Given the description of an element on the screen output the (x, y) to click on. 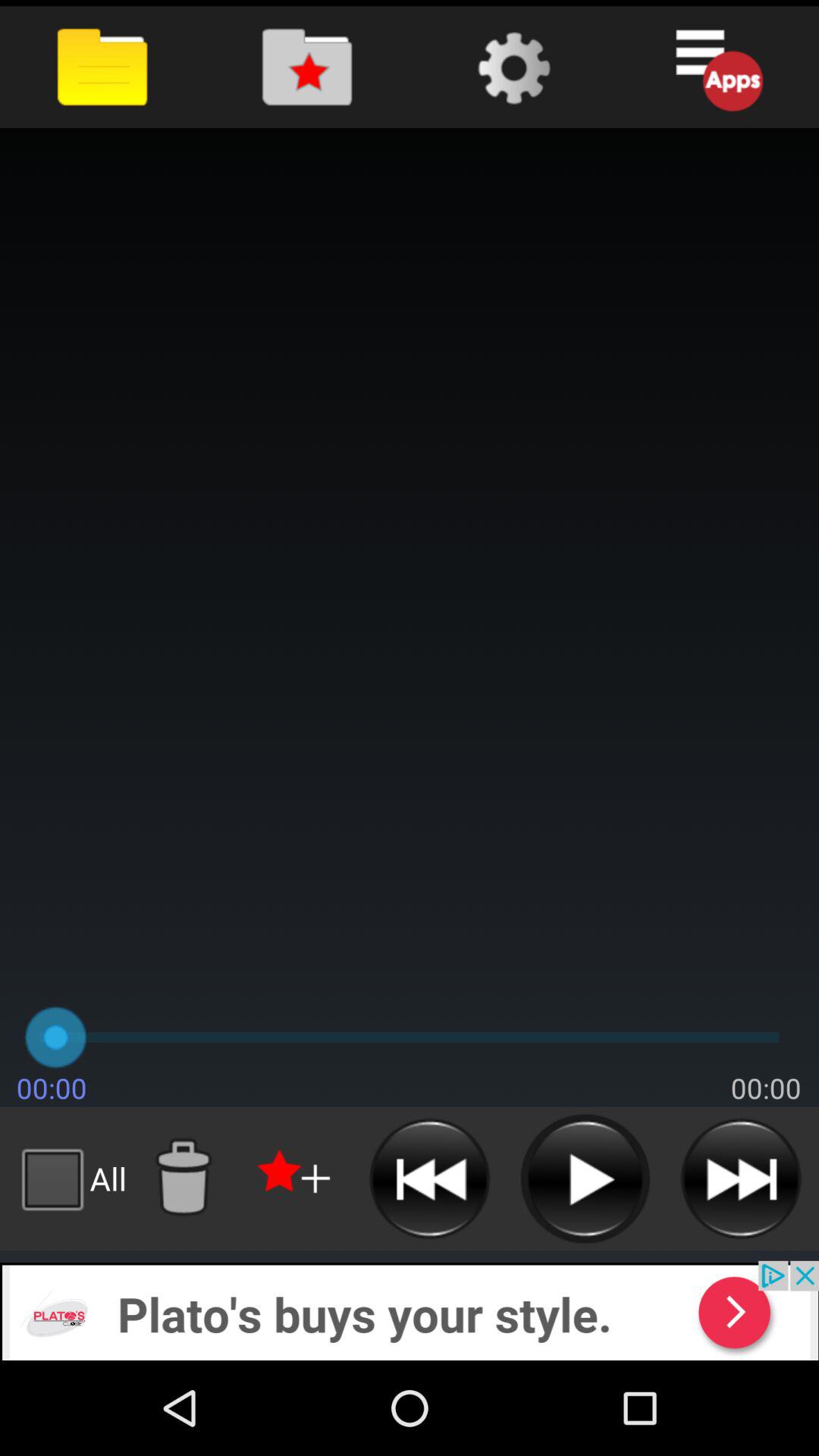
delete element (183, 1178)
